Given the description of an element on the screen output the (x, y) to click on. 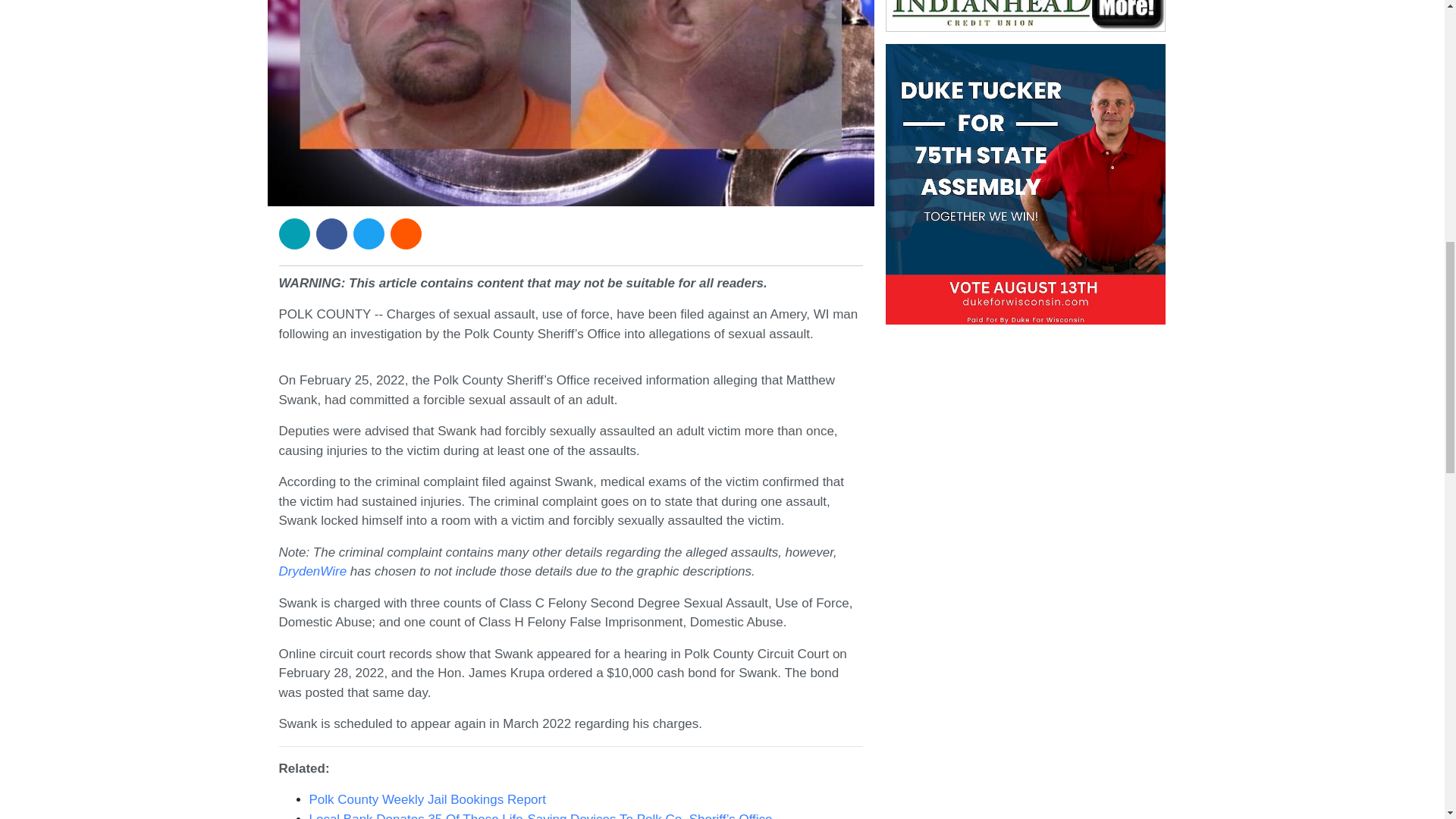
email (294, 233)
facebook (331, 233)
Need A Loan? We Do That Here At ICU! (1025, 15)
Vote For Duke On August 13th! (1025, 184)
twitter (368, 233)
reddit (406, 233)
